Given the description of an element on the screen output the (x, y) to click on. 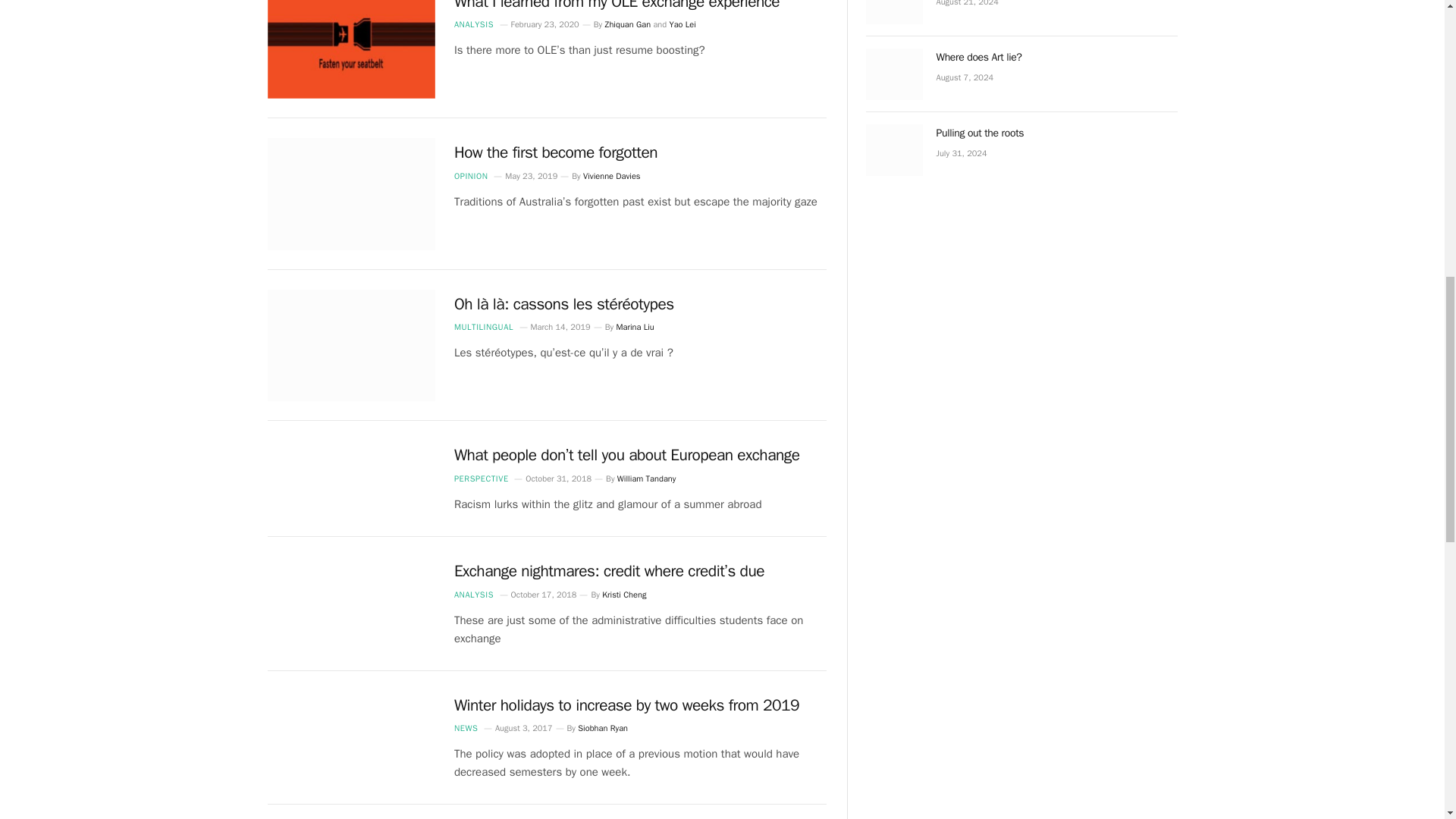
Posts by Zhiquan Gan (627, 23)
What I learned from my OLE exchange experience (349, 49)
Posts by Yao Lei (681, 23)
Posts by Vivienne Davies (611, 175)
How the first become forgotten (349, 194)
